Given the description of an element on the screen output the (x, y) to click on. 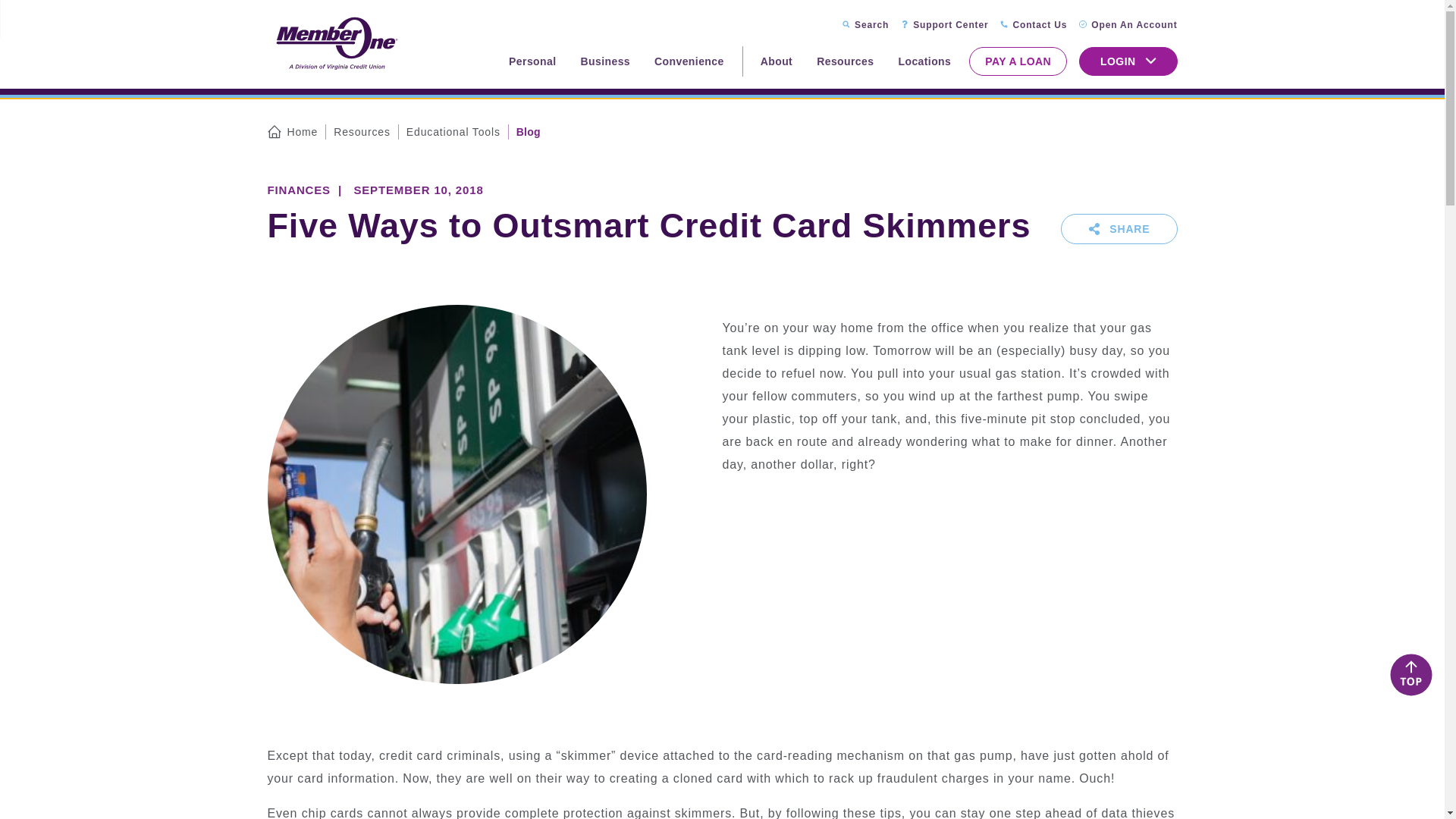
Search (865, 24)
Support Center (944, 24)
Personal (532, 60)
Open An Account (1127, 24)
Contact Us (1033, 24)
